Given the description of an element on the screen output the (x, y) to click on. 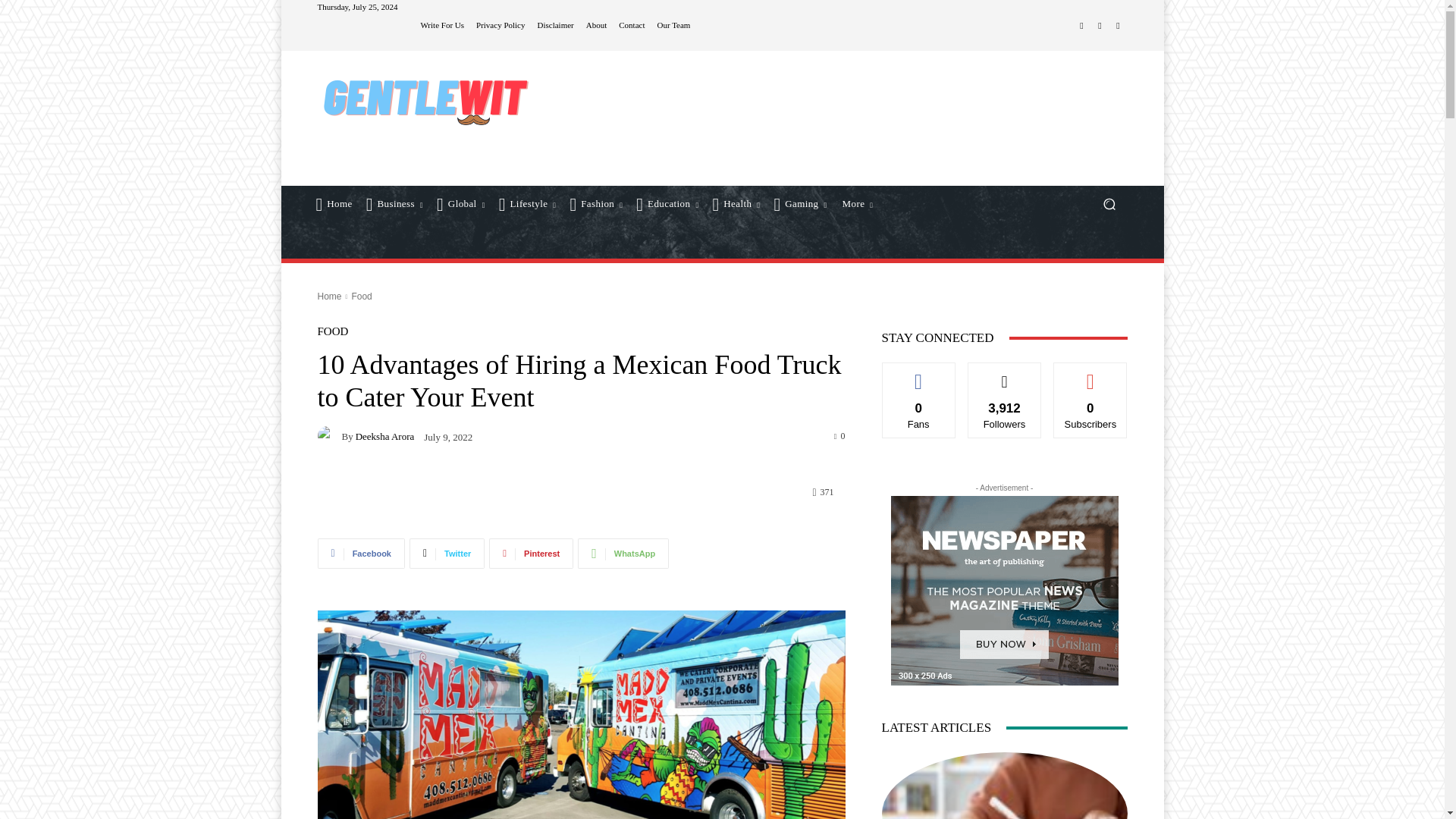
Facebook (1080, 25)
Privacy Policy (500, 25)
Our Team  (674, 25)
Write For Us (442, 25)
Home (333, 203)
gentle wit logo (425, 100)
gentle wit logo (426, 100)
Disclaimer (555, 25)
Business (394, 203)
Youtube (1117, 25)
Twitter (1099, 25)
About (596, 25)
Contact (631, 25)
